Given the description of an element on the screen output the (x, y) to click on. 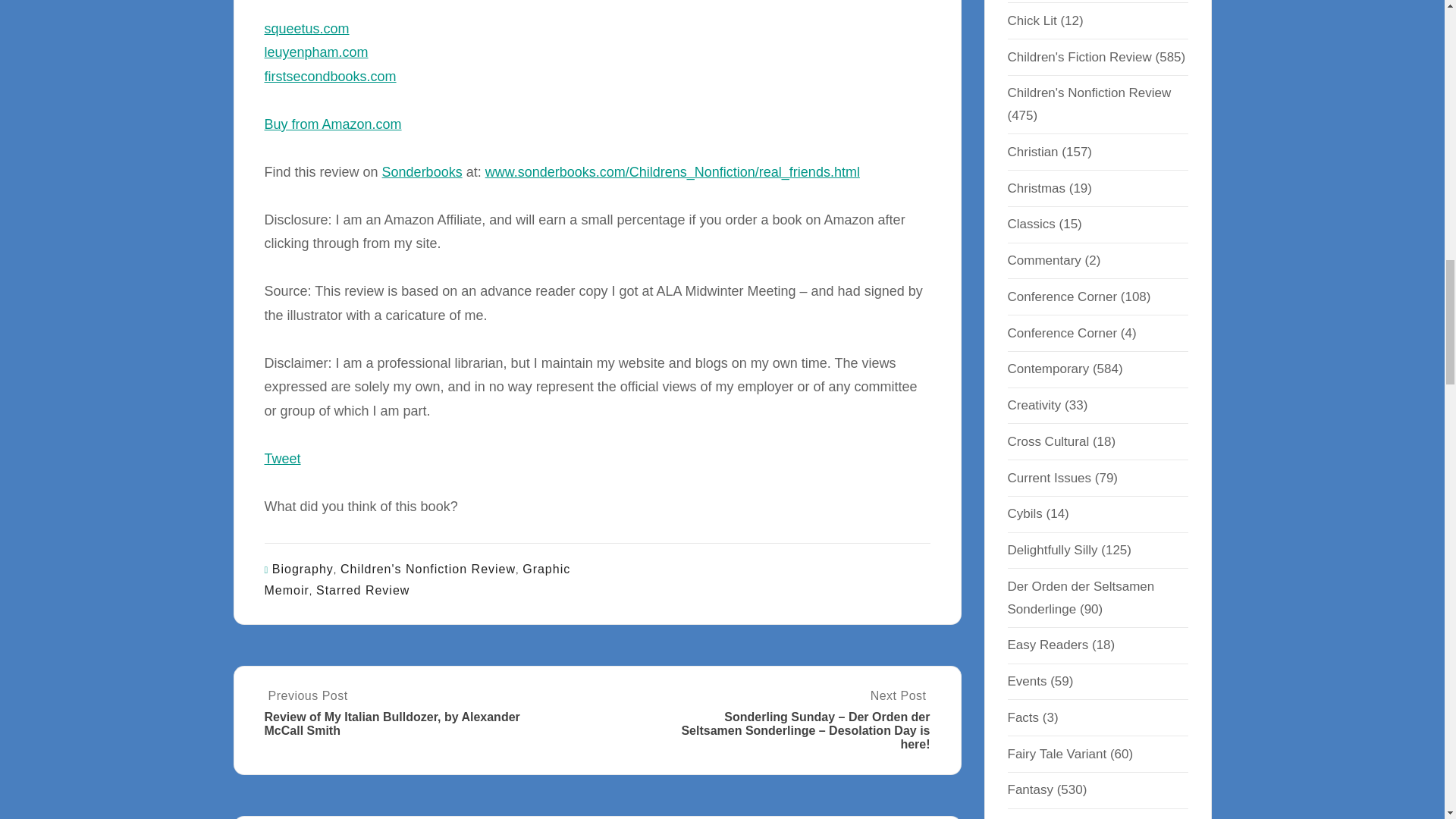
Graphic Memoir (416, 579)
Buy from Amazon.com (332, 124)
squeetus.com (306, 28)
Children'S Nonfiction Review (427, 568)
Starred Review (362, 590)
leuyenpham.com (315, 52)
Biography (302, 568)
firstsecondbooks.com (329, 76)
Sonderbooks (422, 171)
